Given the description of an element on the screen output the (x, y) to click on. 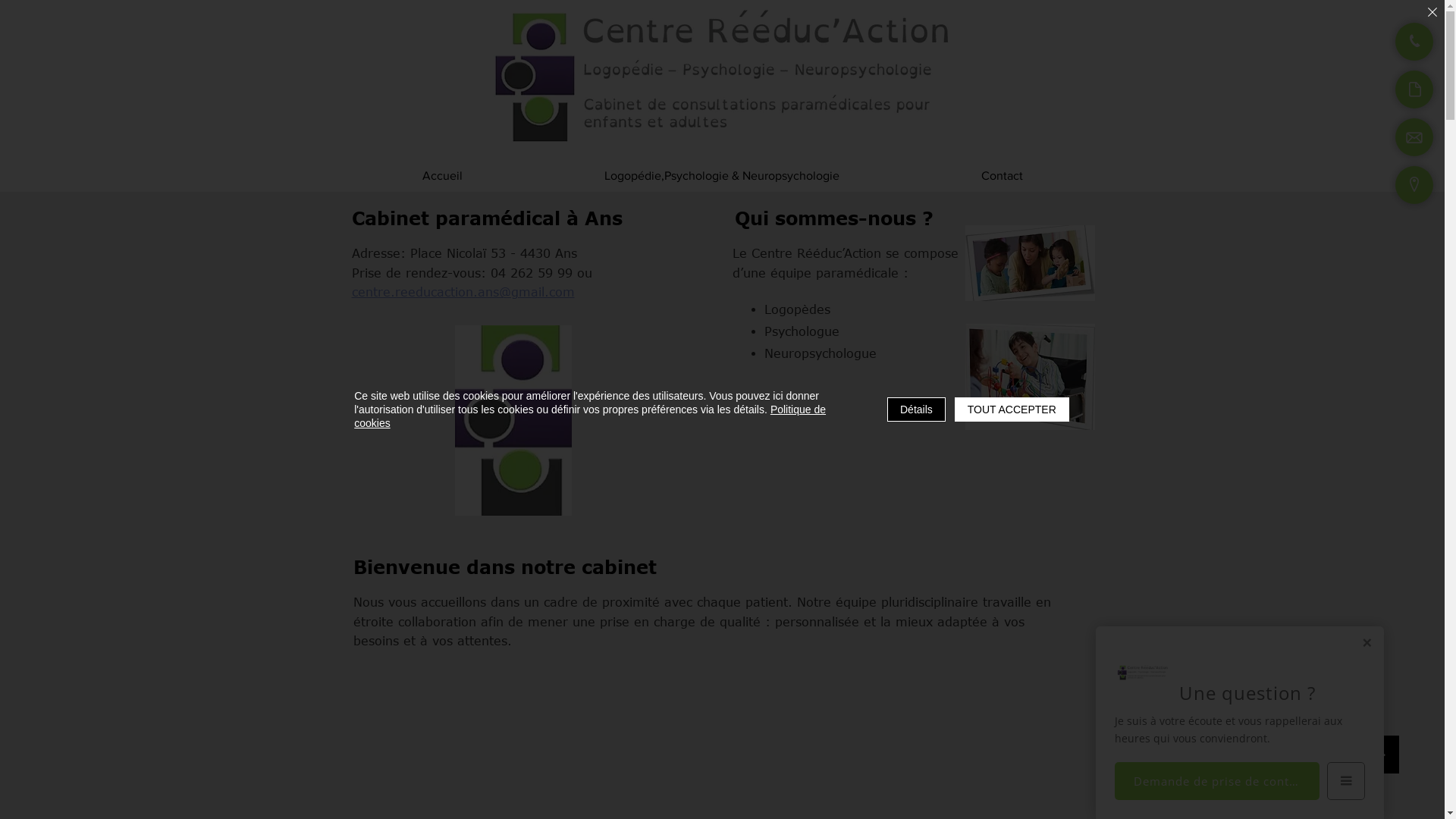
Politique de cookies Element type: text (589, 416)
image or 2.png Element type: hover (1029, 263)
Contact Element type: text (1001, 175)
logo du cabinet_edited.jpg Element type: hover (719, 78)
04 262 59 99 Element type: text (530, 272)
image or 2.png Element type: hover (1029, 376)
centre.reeducaction.ans@gmail.com Element type: text (462, 291)
Demande de prise de contact Element type: text (1216, 778)
NIEUW Element type: hover (513, 420)
TOUT ACCEPTER Element type: text (1011, 409)
Accueil Element type: text (441, 175)
